Given the description of an element on the screen output the (x, y) to click on. 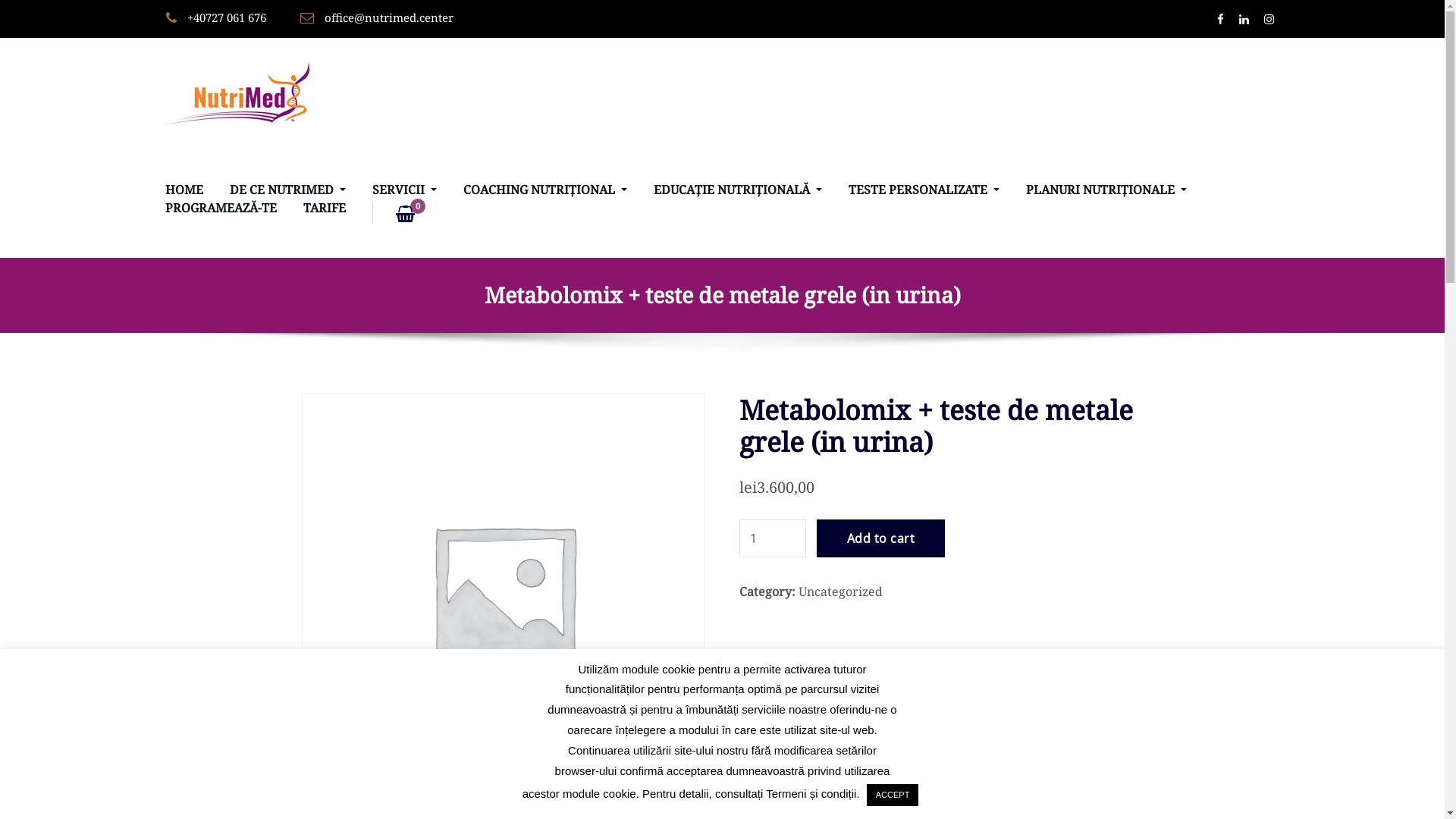
Add to cart Element type: text (880, 538)
TARIFE Element type: text (324, 207)
Qty Element type: hover (772, 538)
SERVICII Element type: text (404, 189)
TESTE PERSONALIZATE Element type: text (923, 189)
ACCEPT Element type: text (892, 795)
office@nutrimed.center Element type: text (388, 17)
Uncategorized Element type: text (840, 591)
HOME Element type: text (184, 189)
DE CE NUTRIMED Element type: text (287, 189)
